Given the description of an element on the screen output the (x, y) to click on. 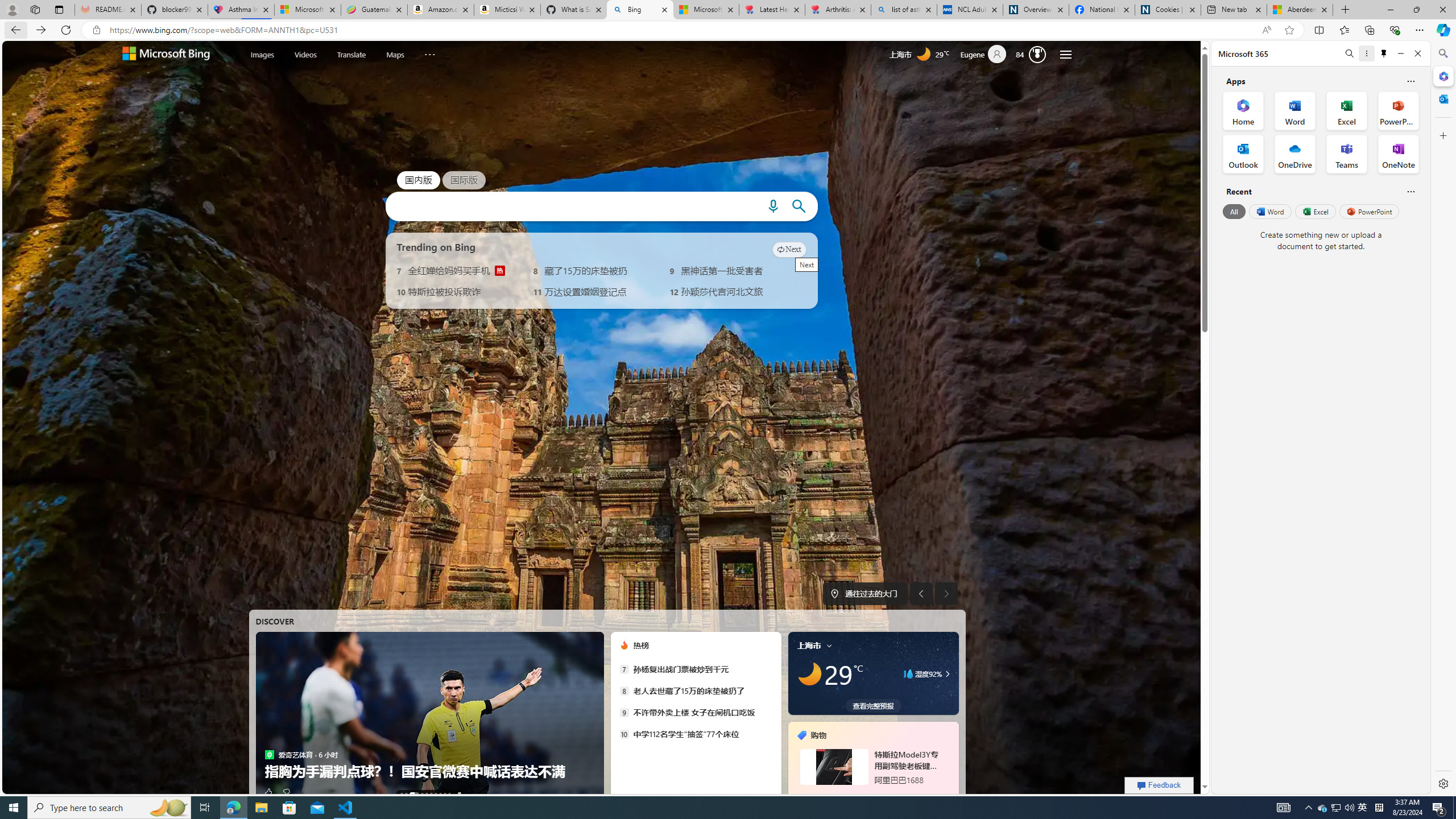
Excel (1315, 210)
tab-9 (872, 795)
Videos (305, 54)
Close Customize pane (1442, 135)
Settings and quick links (1065, 54)
All (1233, 210)
AutomationID: tab-6 (435, 793)
